Given the description of an element on the screen output the (x, y) to click on. 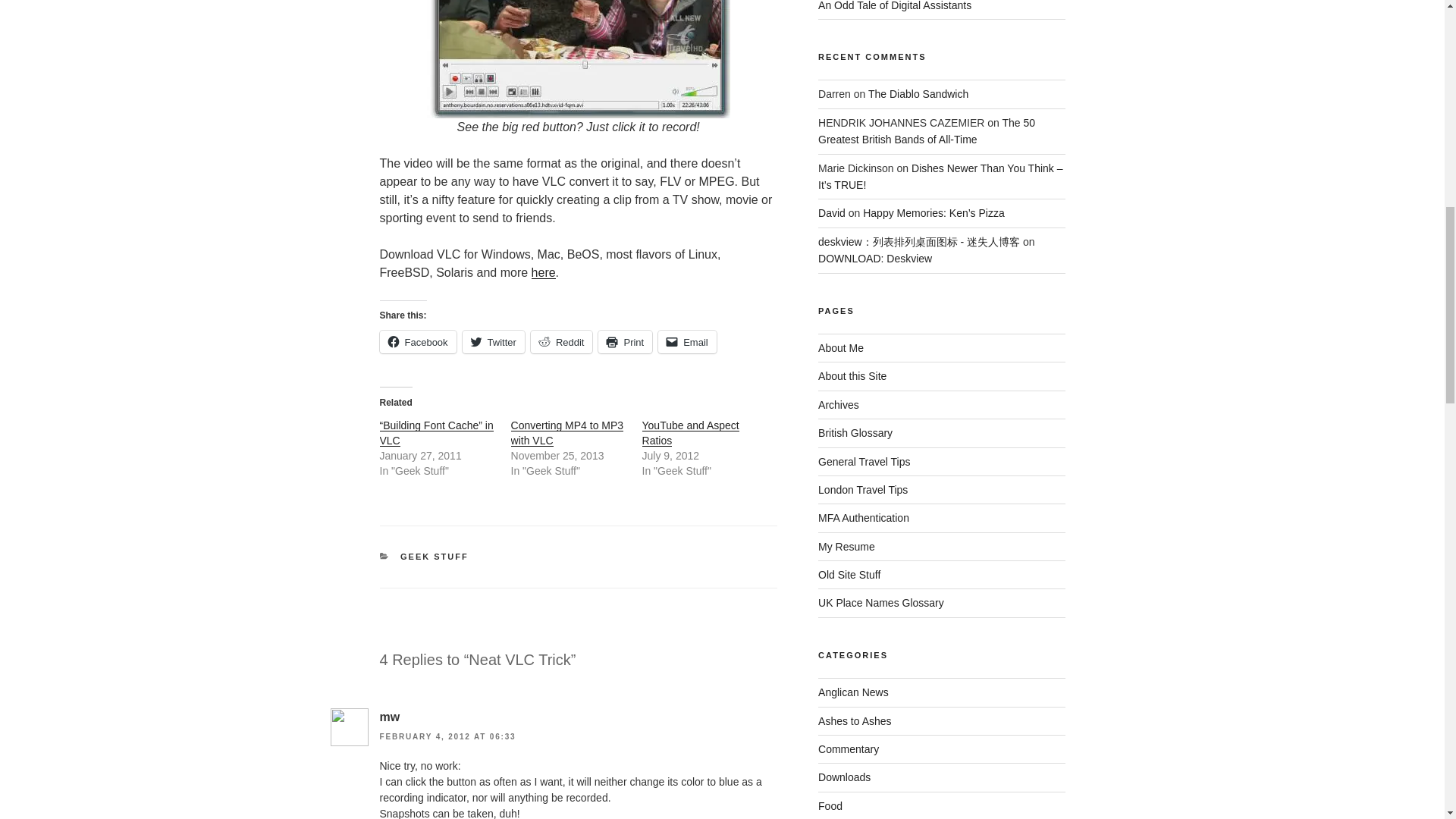
FEBRUARY 4, 2012 AT 06:33 (446, 736)
Print (625, 341)
YouTube and Aspect Ratios (690, 432)
Converting MP4 to MP3 with VLC (567, 432)
Click to share on Twitter (493, 341)
Reddit (561, 341)
YouTube and Aspect Ratios (690, 432)
Email (687, 341)
Click to share on Facebook (416, 341)
GEEK STUFF (434, 556)
Twitter (493, 341)
Click to print (625, 341)
Click to email a link to a friend (687, 341)
here (543, 272)
Facebook (416, 341)
